Given the description of an element on the screen output the (x, y) to click on. 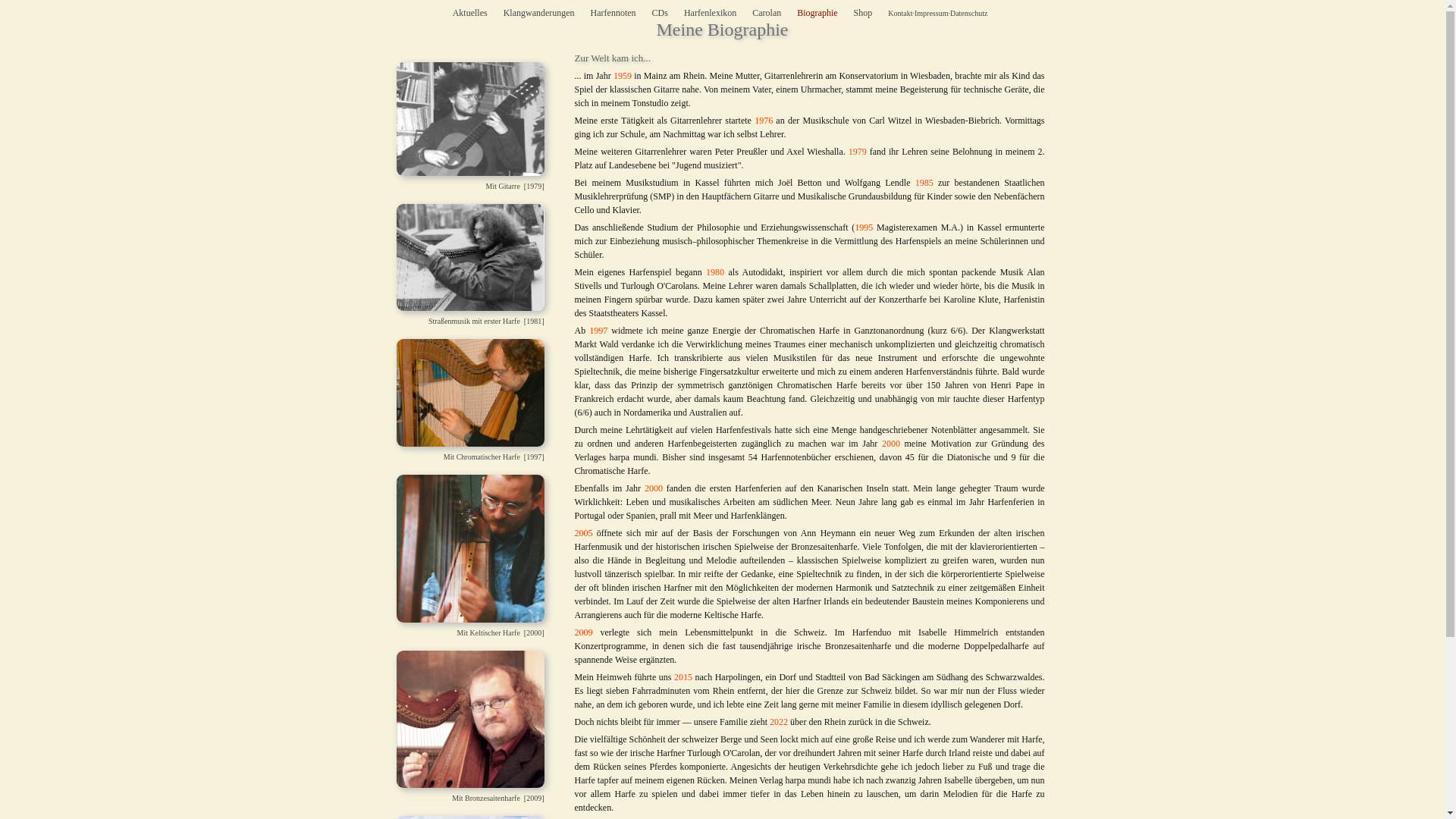
Mit Gitarre  [1979] Element type: text (460, 240)
Mit Keltischer Harfe  [2000] Element type: text (460, 702)
Shop Element type: text (862, 12)
Aktuelles Element type: text (469, 12)
Klangwanderungen Element type: text (538, 12)
Mit Chromatischer Harfe  [1997] Element type: text (460, 531)
Biographie Element type: text (817, 12)
CDs Element type: text (660, 12)
Carolan Element type: text (766, 12)
Harfenlexikon Element type: text (710, 12)
Harfennoten Element type: text (613, 12)
